Given the description of an element on the screen output the (x, y) to click on. 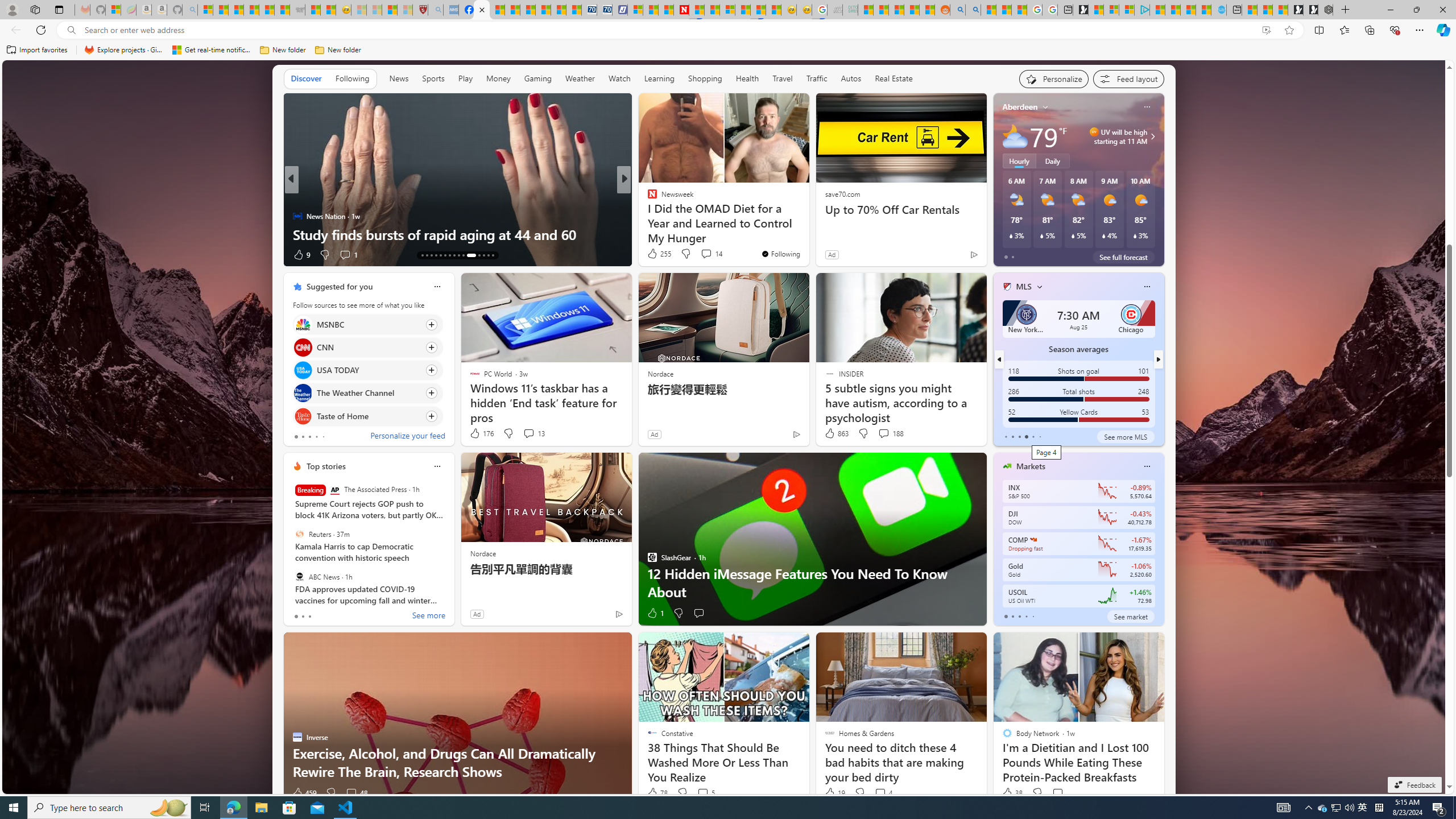
Click to follow source The Weather Channel (367, 392)
Mostly cloudy (1014, 136)
255 Like (658, 253)
Feed settings (1128, 78)
AutomationID: tab-67 (426, 255)
The Weather Channel - MSN (236, 9)
Student Loan Update: Forgiveness Program Ends This Month (911, 9)
